Given the description of an element on the screen output the (x, y) to click on. 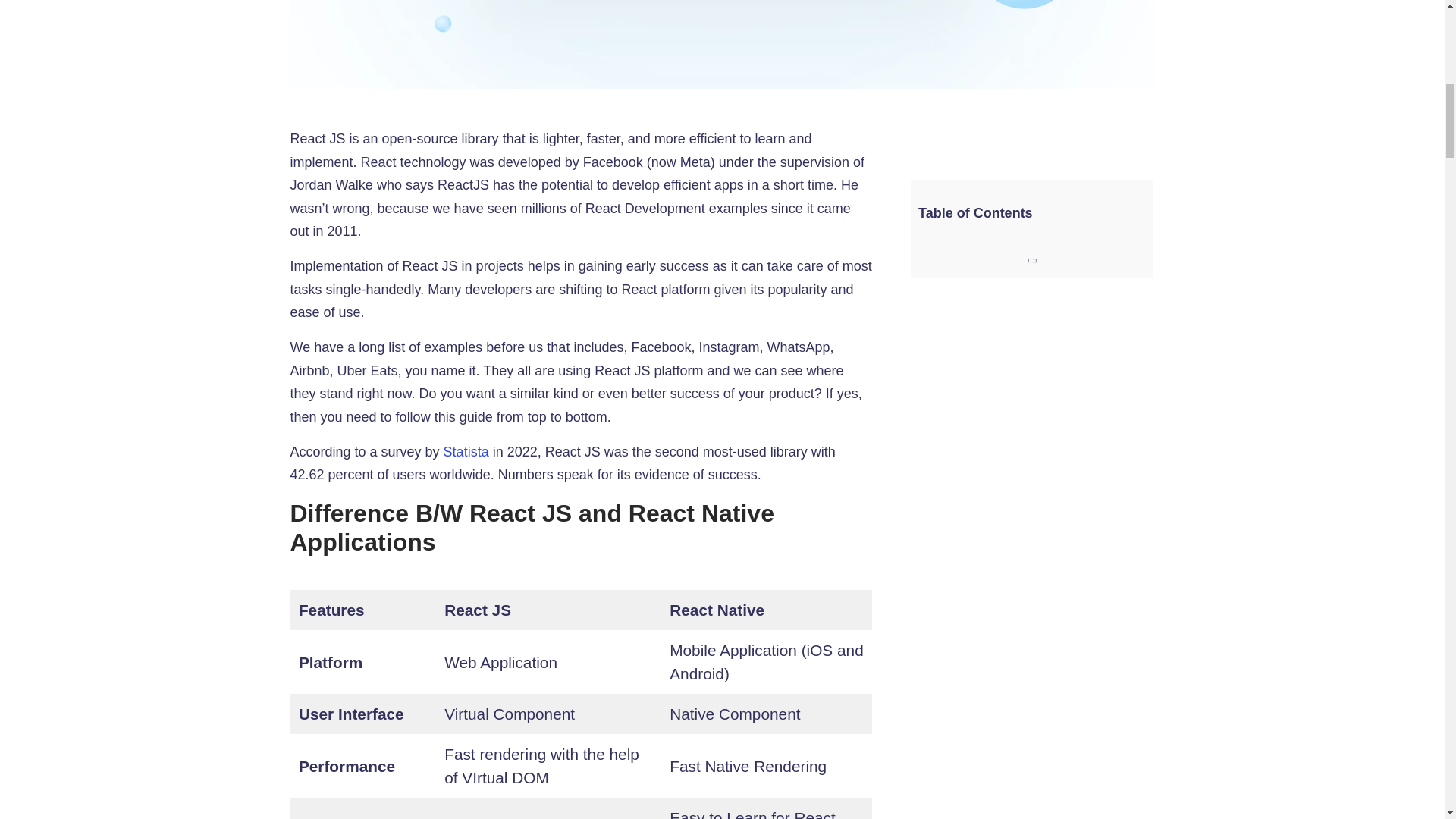
Statista (466, 451)
